Given the description of an element on the screen output the (x, y) to click on. 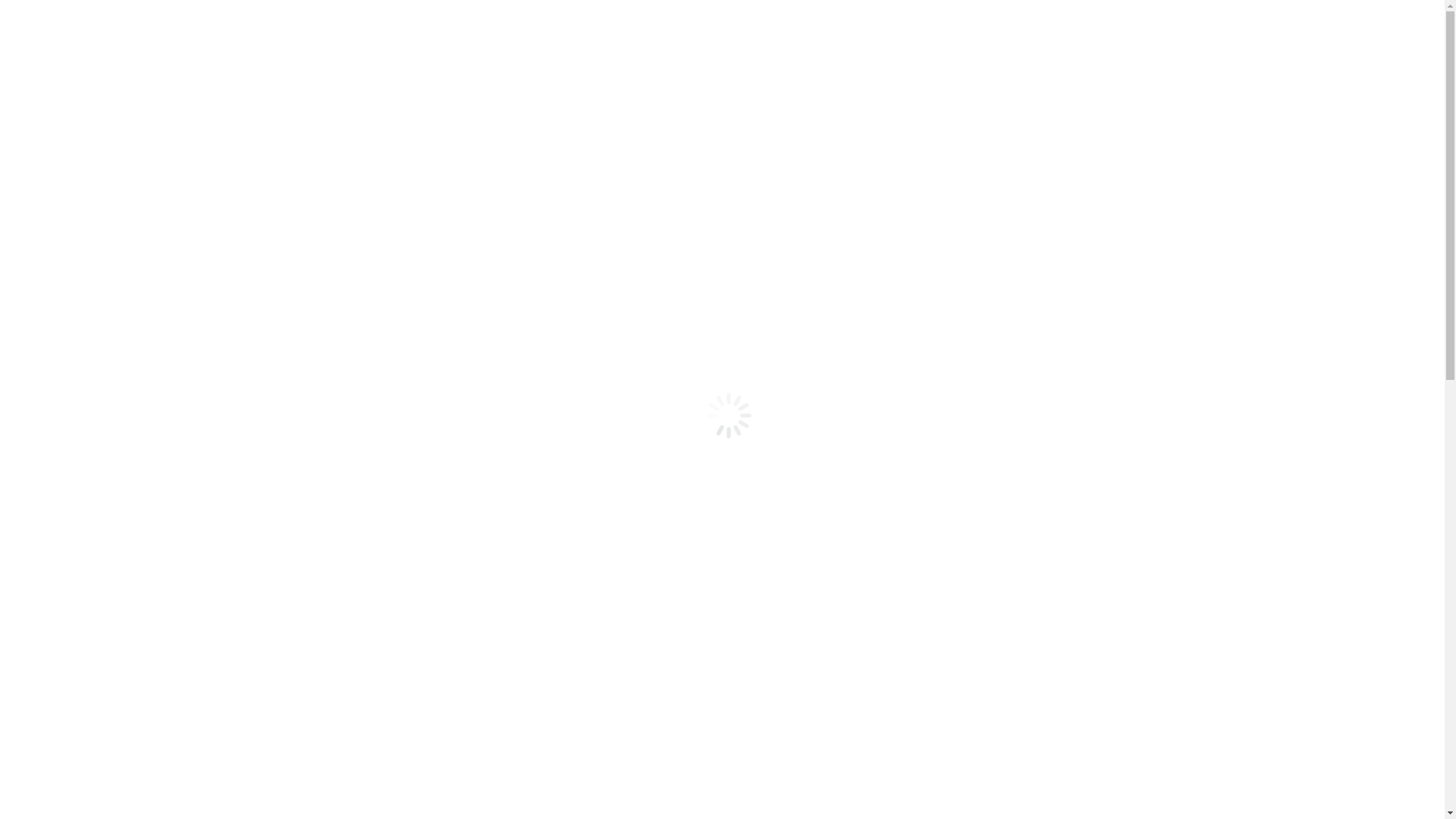
Go to homepage Element type: text (46, 227)
Skip to content Element type: text (43, 12)
